Given the description of an element on the screen output the (x, y) to click on. 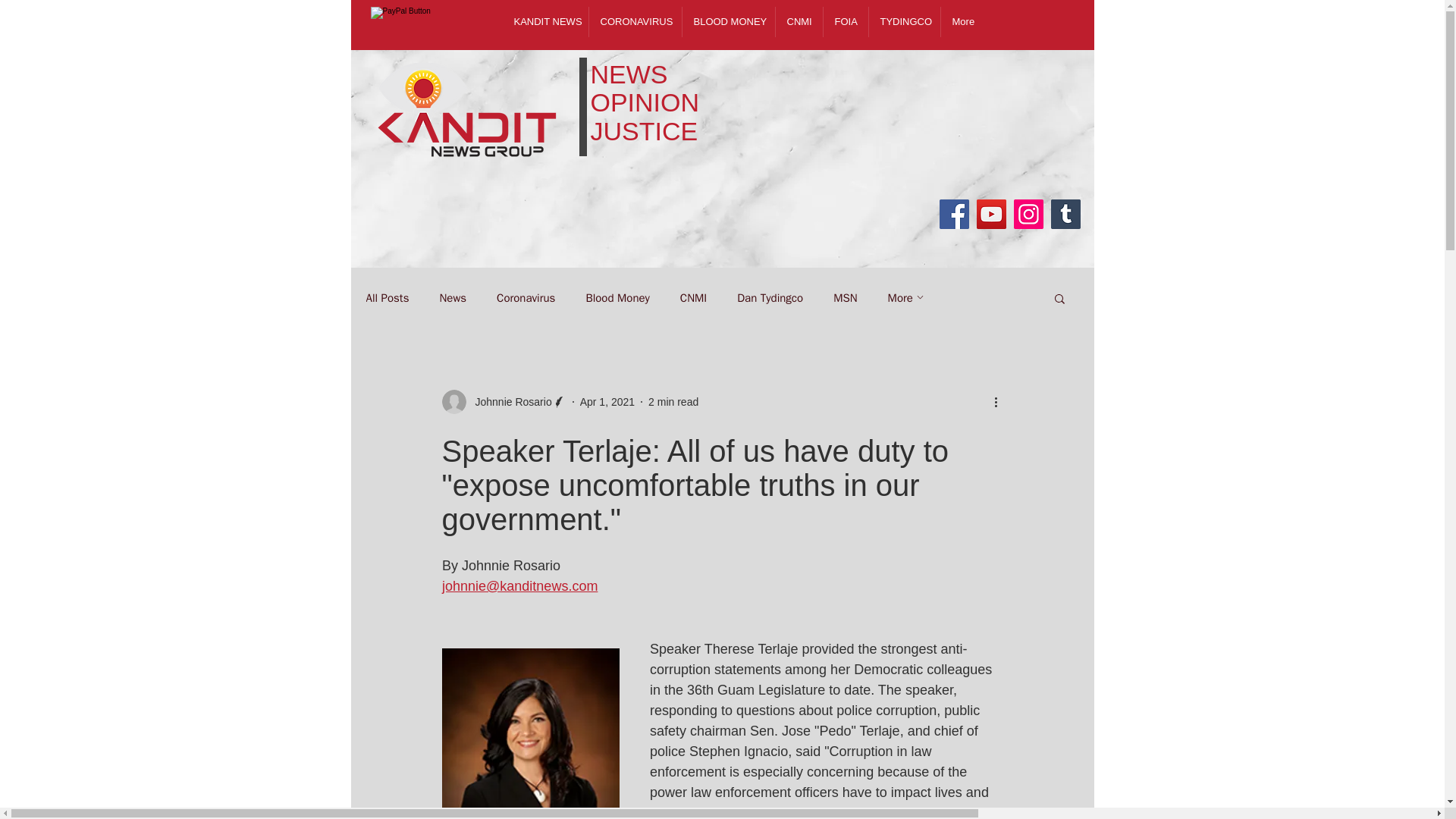
KANDIT NEWS (545, 21)
News (452, 298)
Johnnie Rosario (503, 401)
MSN (844, 298)
Dan Tydingco (769, 298)
Apr 1, 2021 (606, 401)
CNMI (692, 298)
Blood Money (617, 298)
All Posts (387, 298)
Johnnie Rosario (508, 401)
